Given the description of an element on the screen output the (x, y) to click on. 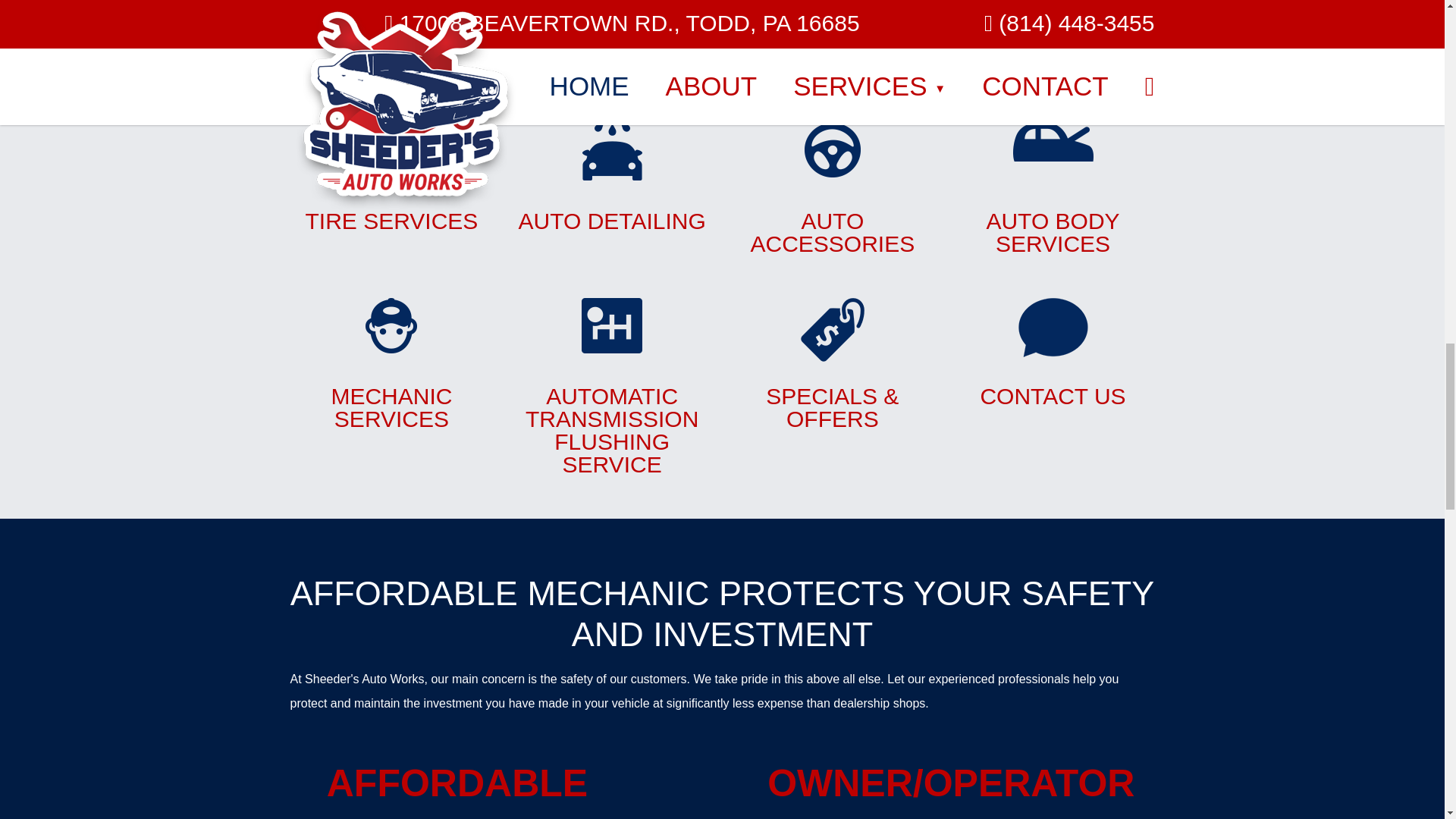
AUTO BODY SERVICES (1053, 188)
EXHAUST SERVICES (612, 28)
BRAKE SERVICES (391, 17)
TIRE SERVICES (391, 177)
AUTO DETAILING (831, 40)
AUTO ACCESSORIES (612, 177)
CONTACT US (831, 188)
MECHANIC SERVICES (1053, 352)
